Given the description of an element on the screen output the (x, y) to click on. 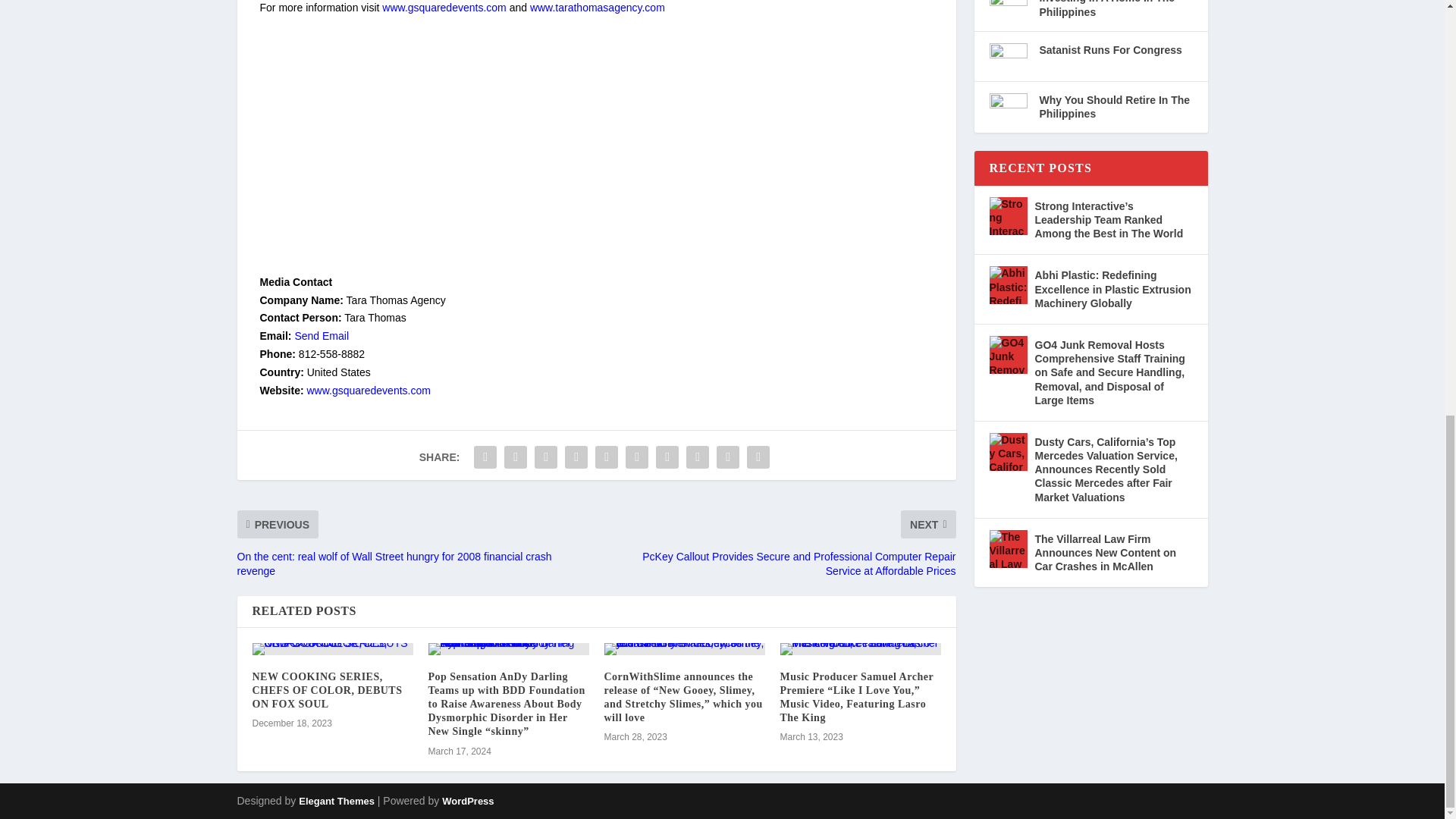
NEW COOKING SERIES, CHEFS OF COLOR, DEBUTS ON FOX SOUL (326, 690)
www.tarathomasagency.com (597, 7)
www.gsquaredevents.com (443, 7)
Send Email (321, 336)
NEW COOKING SERIES, CHEFS OF COLOR, DEBUTS ON FOX SOUL (331, 648)
www.gsquaredevents.com (367, 390)
